Given the description of an element on the screen output the (x, y) to click on. 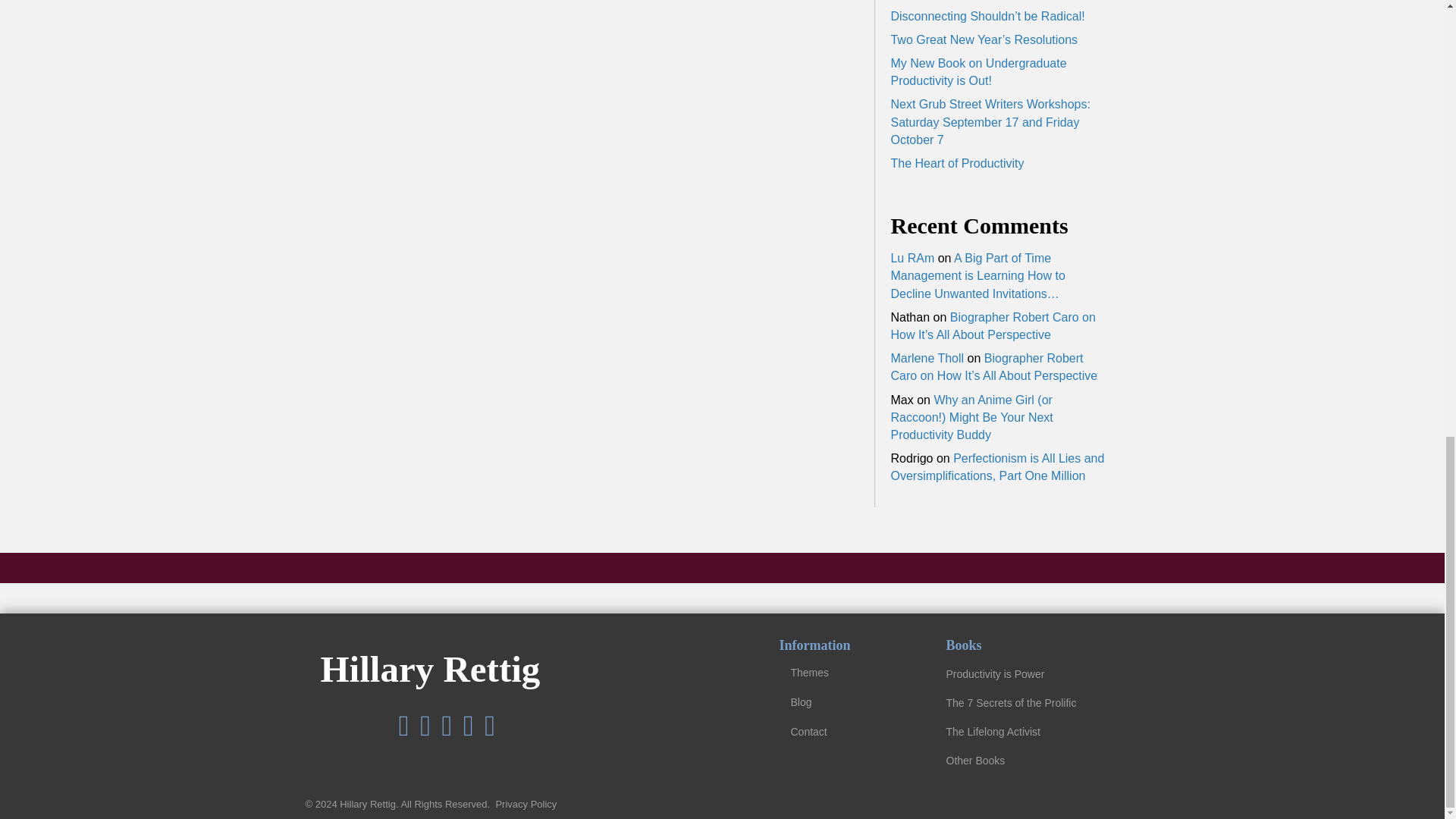
My New Book on Undergraduate Productivity is Out! (977, 71)
Hillary Rettig (430, 669)
Marlene Tholl (926, 358)
Themes (847, 672)
Hillary Rettig (430, 669)
Lu RAm (911, 257)
The Heart of Productivity (956, 163)
